Given the description of an element on the screen output the (x, y) to click on. 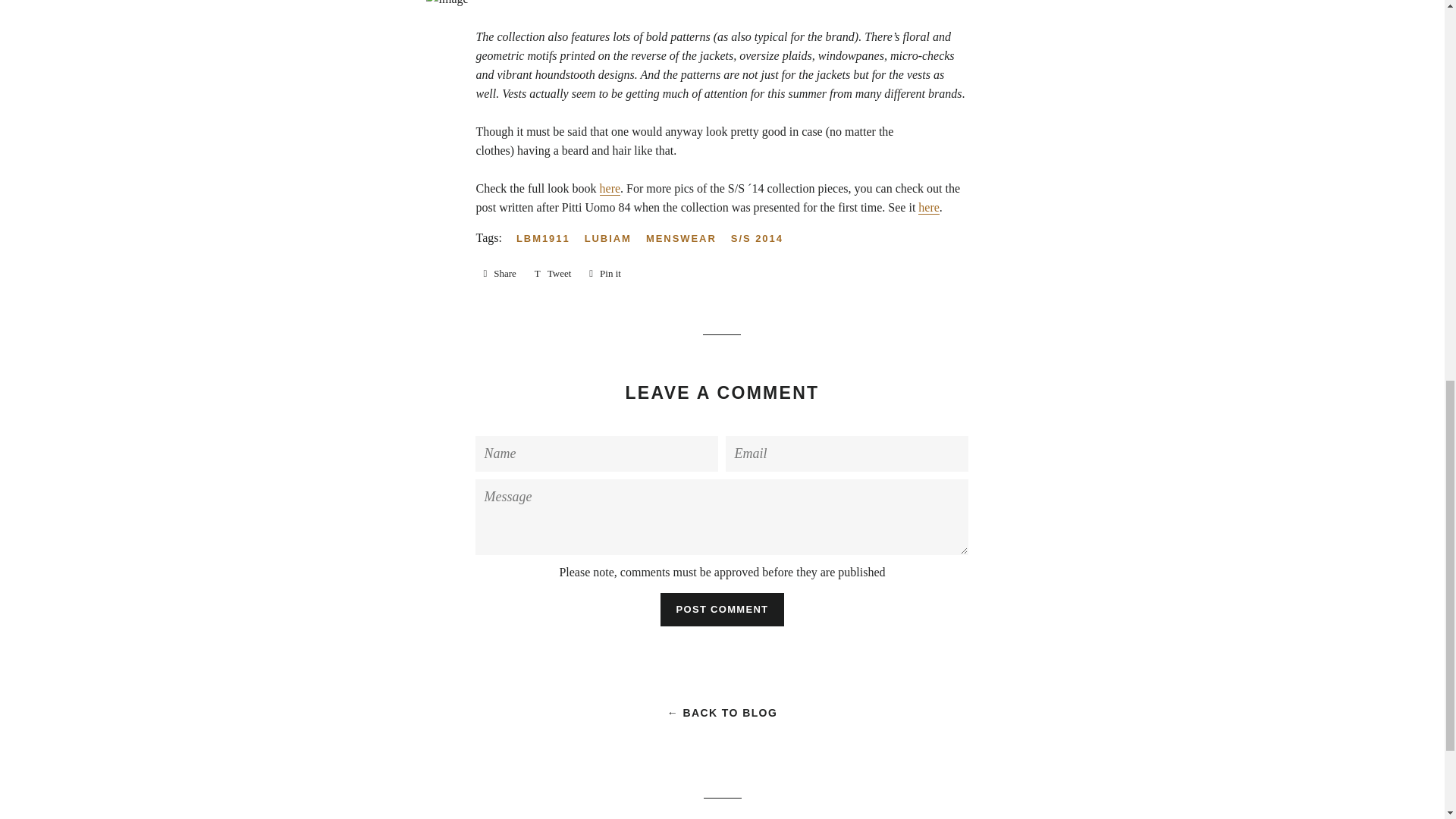
Post comment (722, 609)
Post comment (722, 609)
MENSWEAR (687, 238)
Pin on Pinterest (604, 273)
here (610, 188)
LBM1911 (548, 238)
here (604, 273)
Tweet on Twitter (928, 207)
Share on Facebook (553, 273)
